Given the description of an element on the screen output the (x, y) to click on. 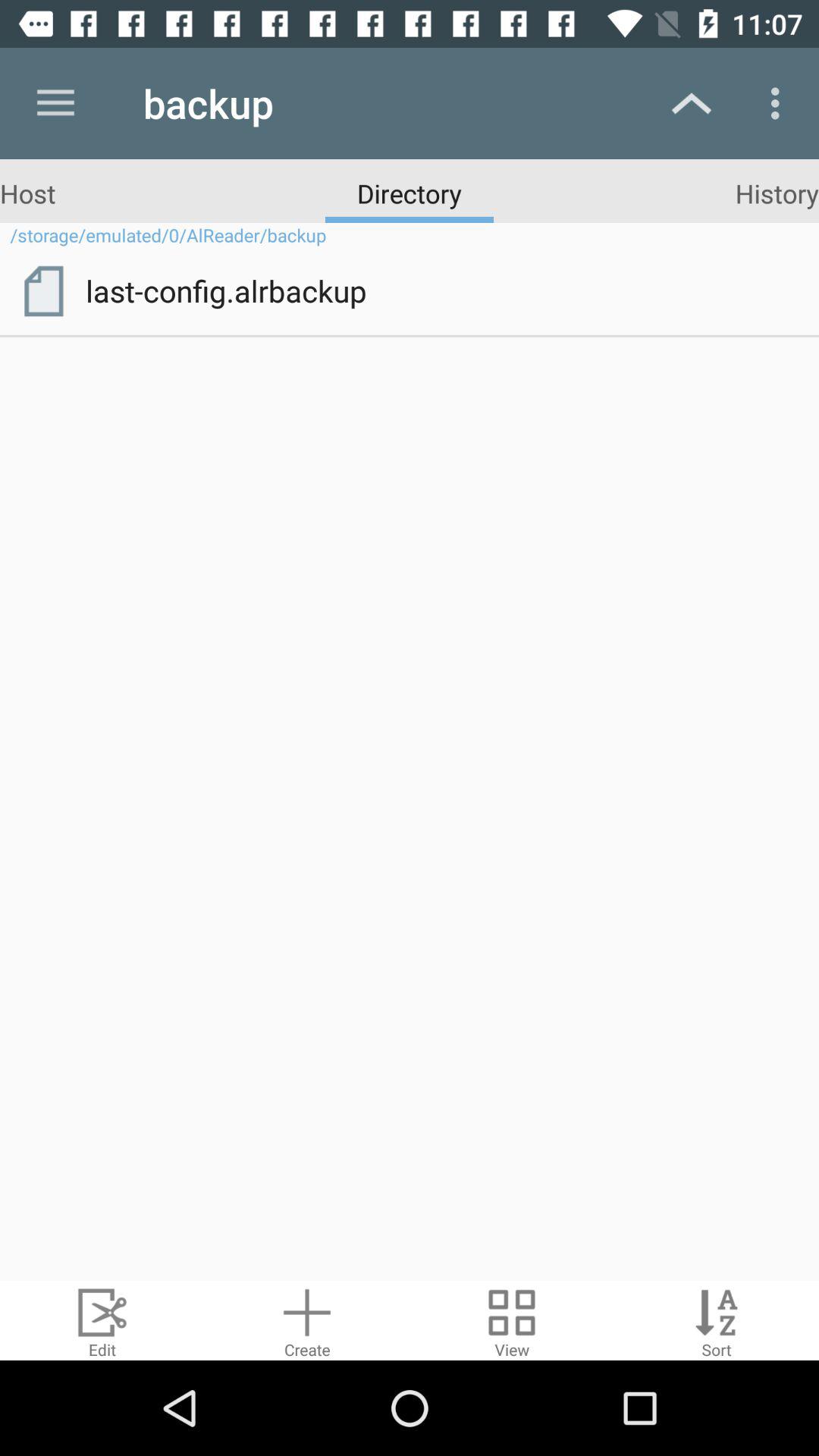
create (306, 1320)
